Given the description of an element on the screen output the (x, y) to click on. 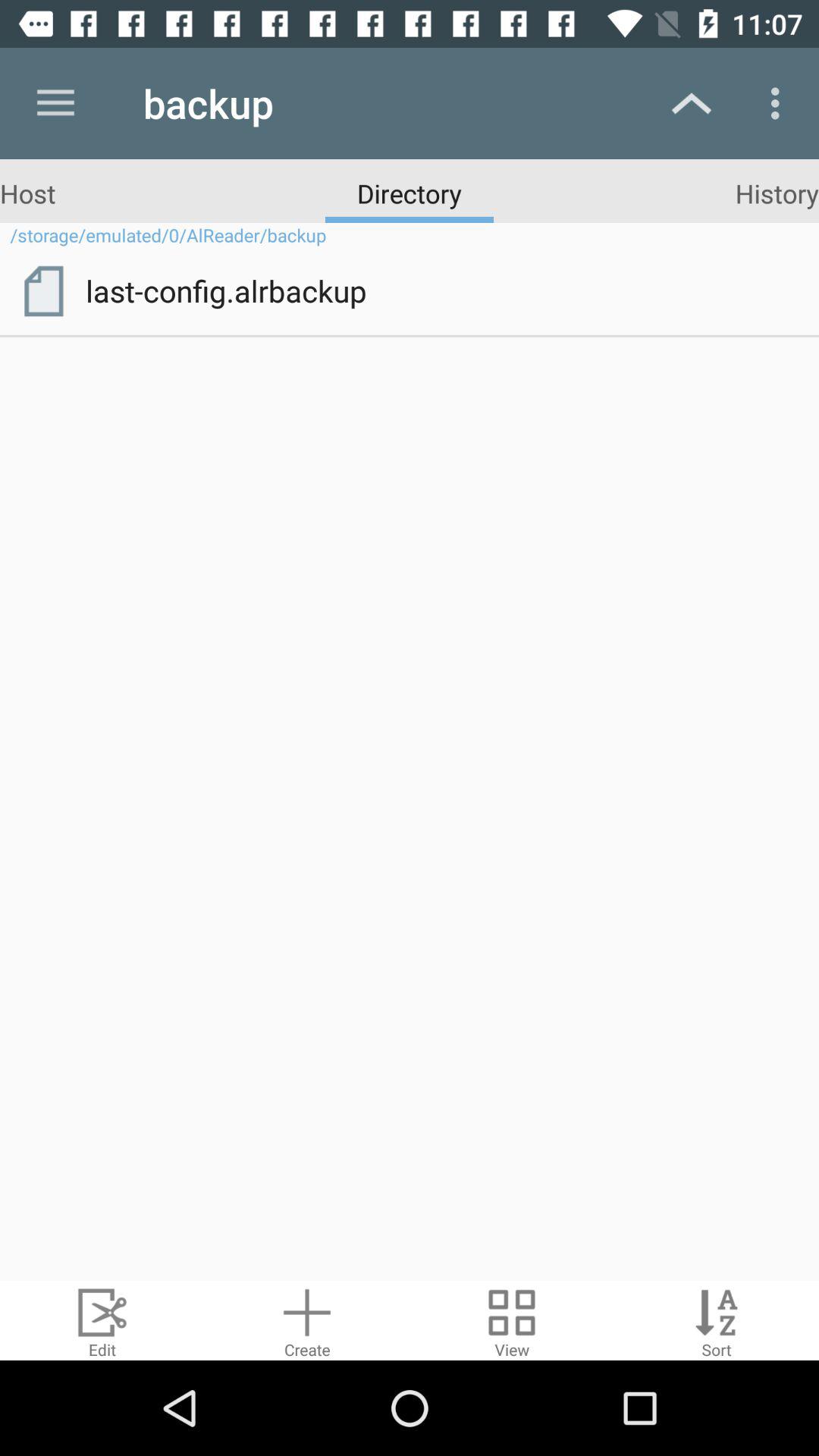
create (306, 1320)
